Given the description of an element on the screen output the (x, y) to click on. 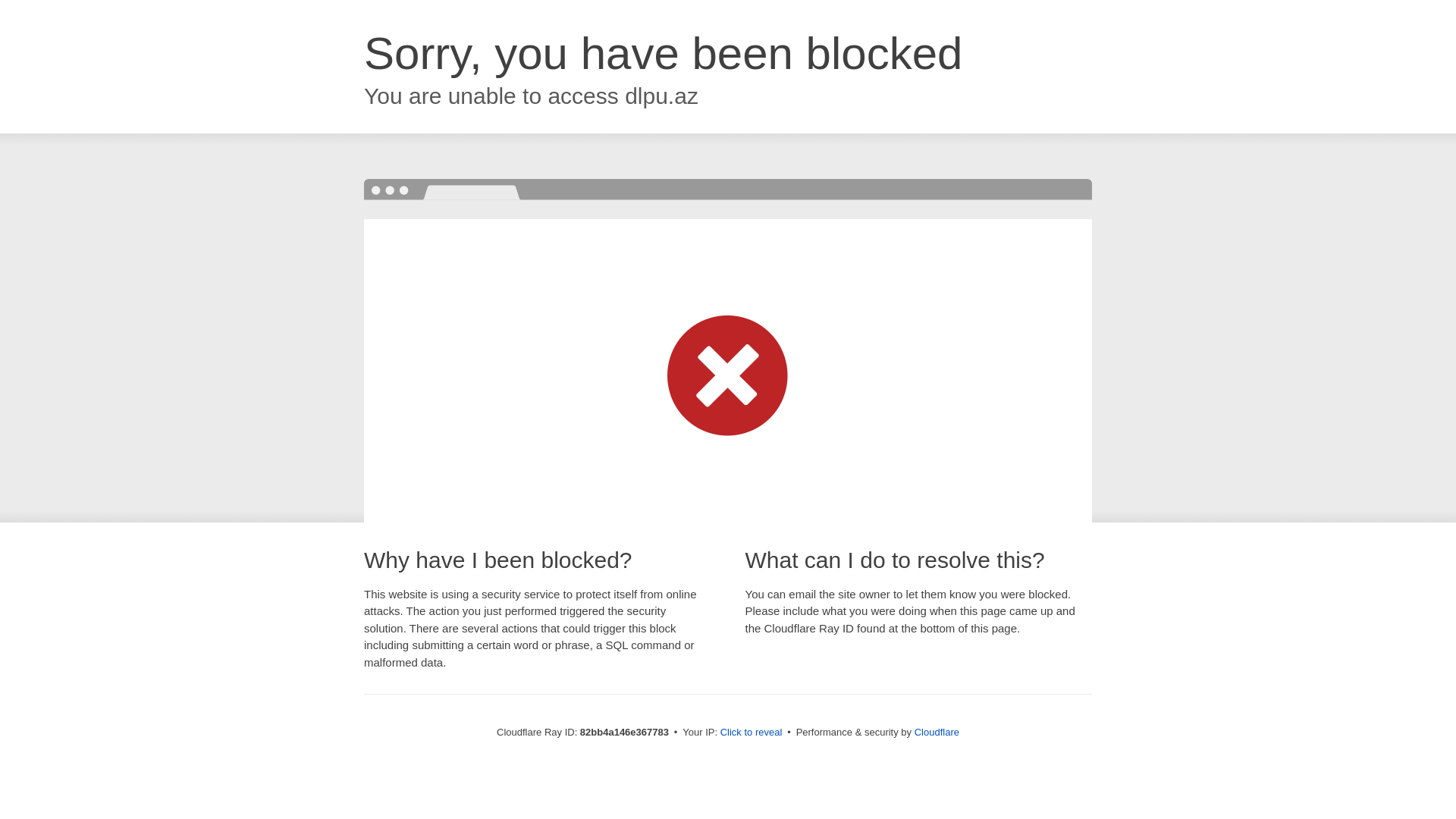
Click to reveal Element type: text (751, 732)
Cloudflare Element type: text (936, 731)
